Given the description of an element on the screen output the (x, y) to click on. 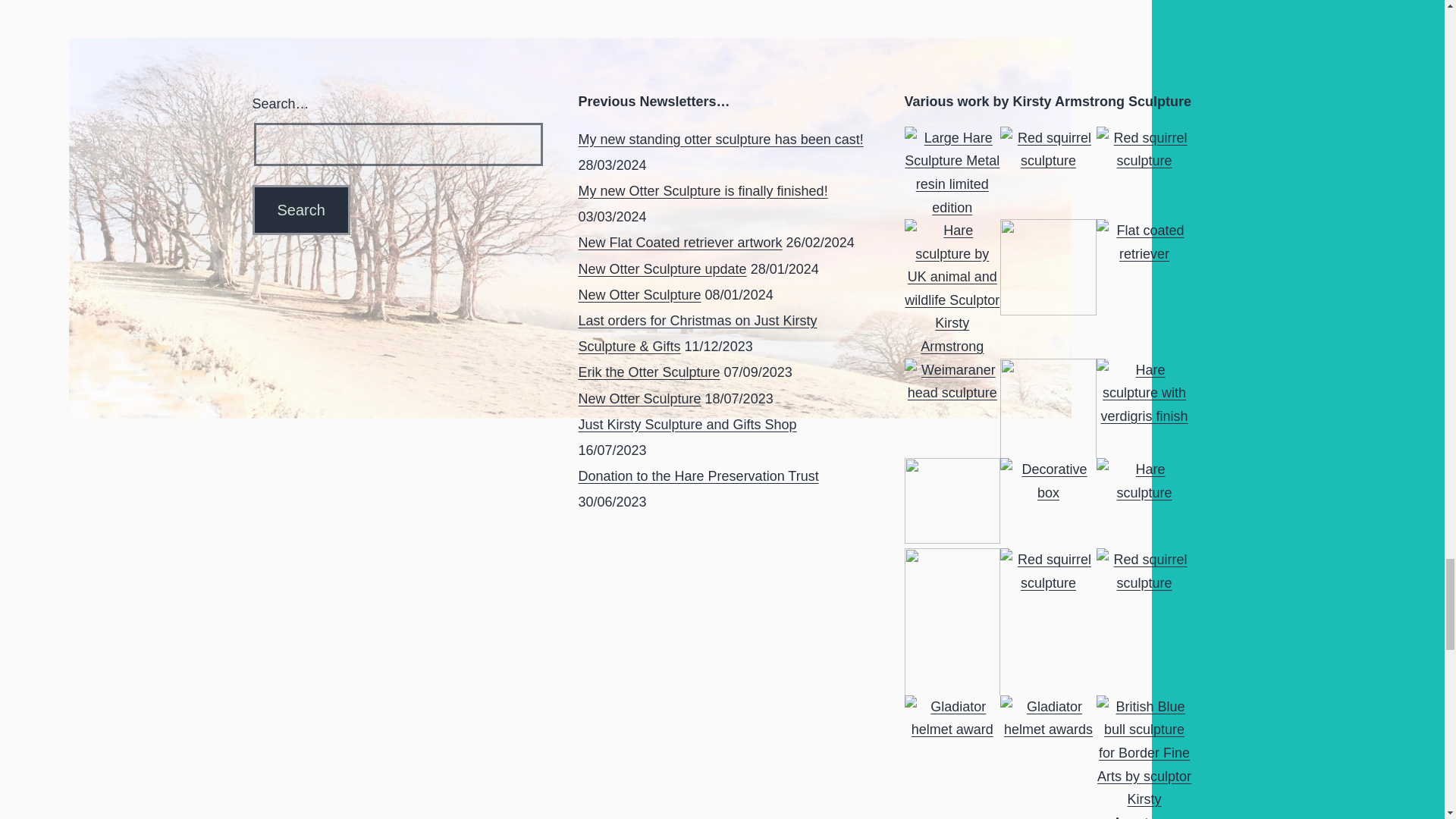
Search (300, 210)
Search (300, 210)
